Given the description of an element on the screen output the (x, y) to click on. 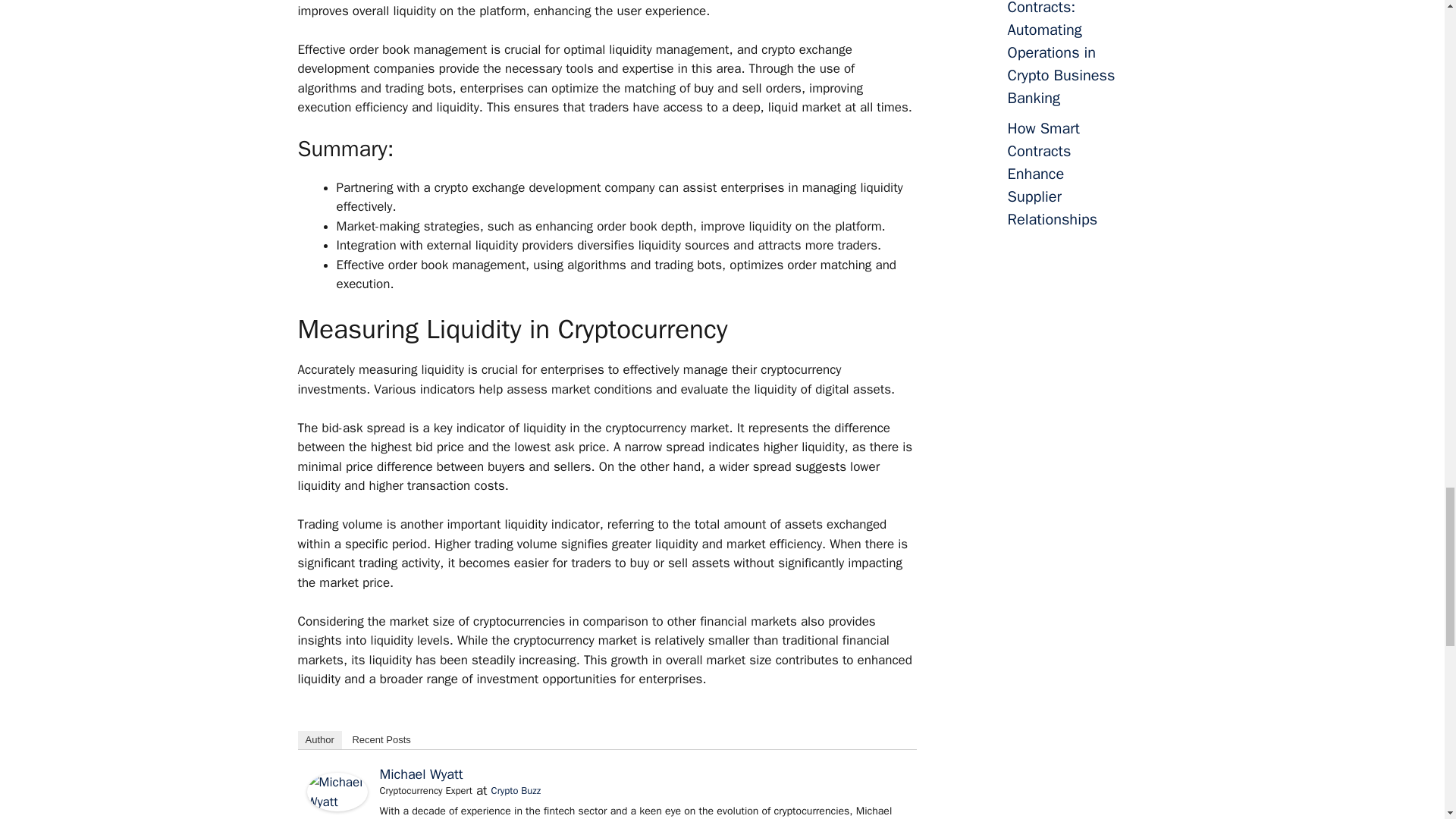
Recent Posts (380, 740)
Michael Wyatt (420, 773)
Michael Wyatt (335, 806)
Author (318, 740)
Crypto Buzz (516, 789)
